Given the description of an element on the screen output the (x, y) to click on. 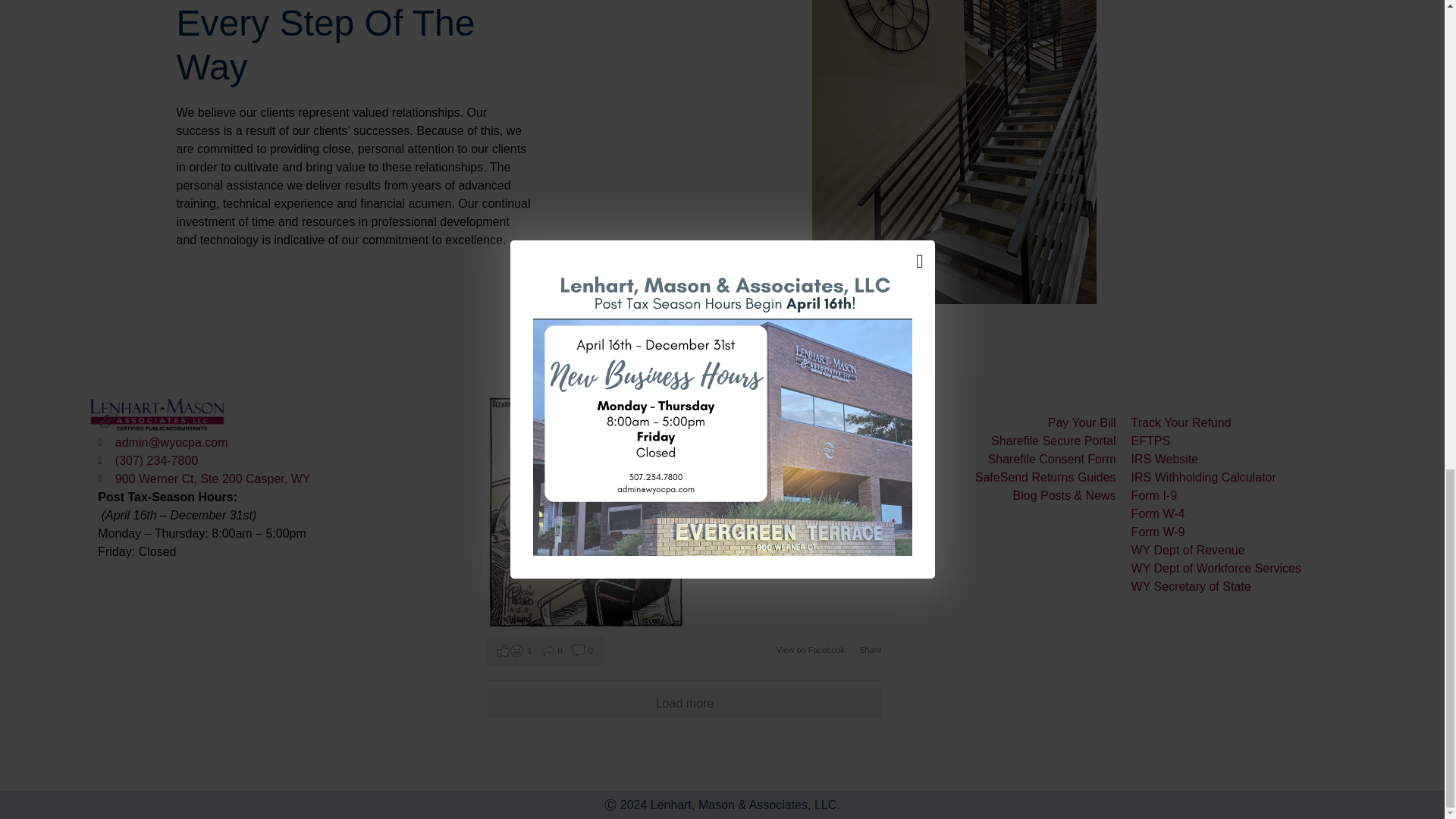
View on Facebook (811, 649)
Share (869, 649)
900 Werner Ct, Ste 200 Casper, WY (288, 479)
